Given the description of an element on the screen output the (x, y) to click on. 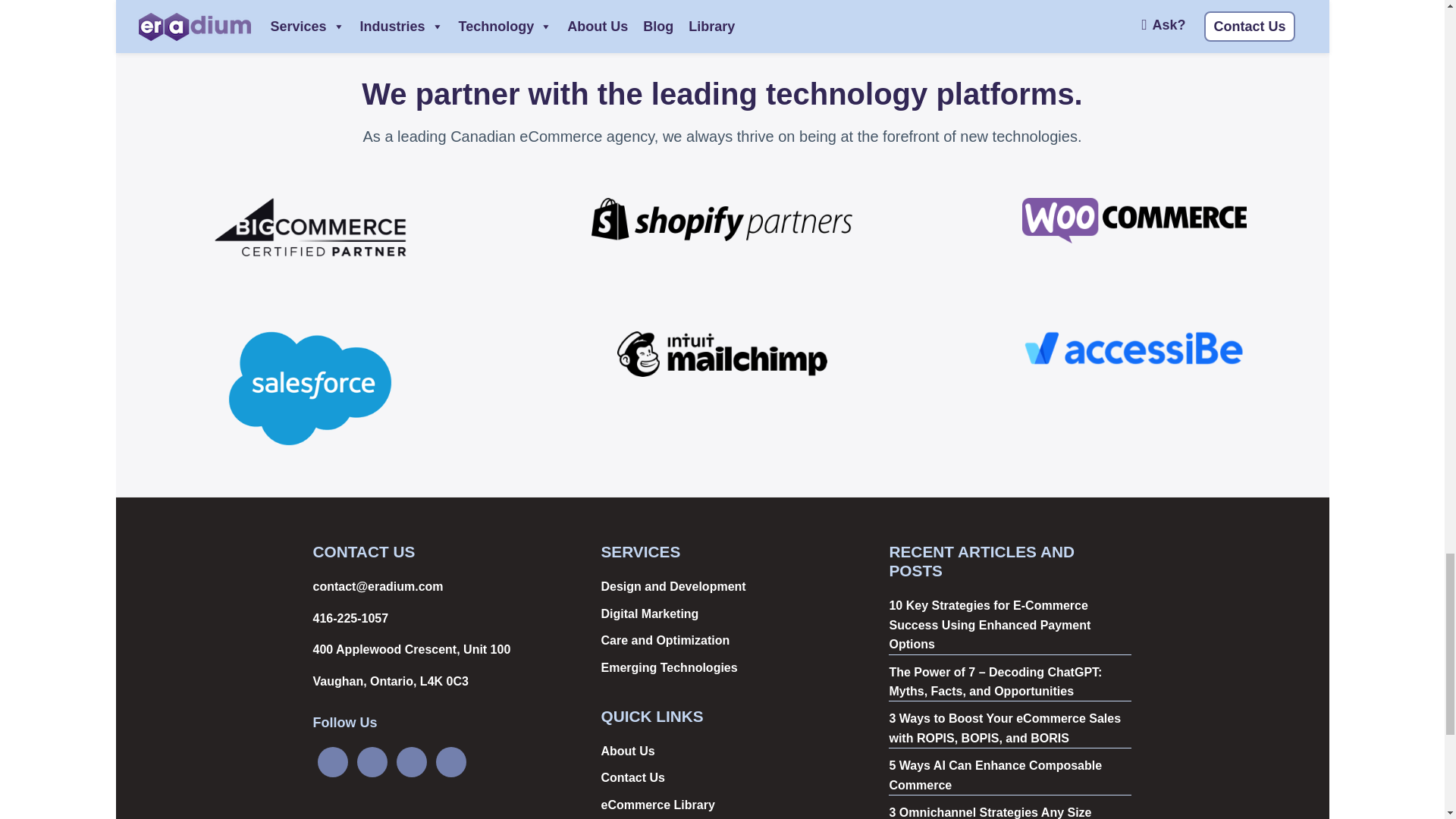
About Us (626, 750)
salesforce (309, 388)
Shopify-partners (721, 219)
woocommerce-logo-color-black (1134, 220)
BigCommerce-Partner-Certified (310, 226)
Mailchimp-Logo Black (721, 353)
accessibe-logo (1134, 348)
